Given the description of an element on the screen output the (x, y) to click on. 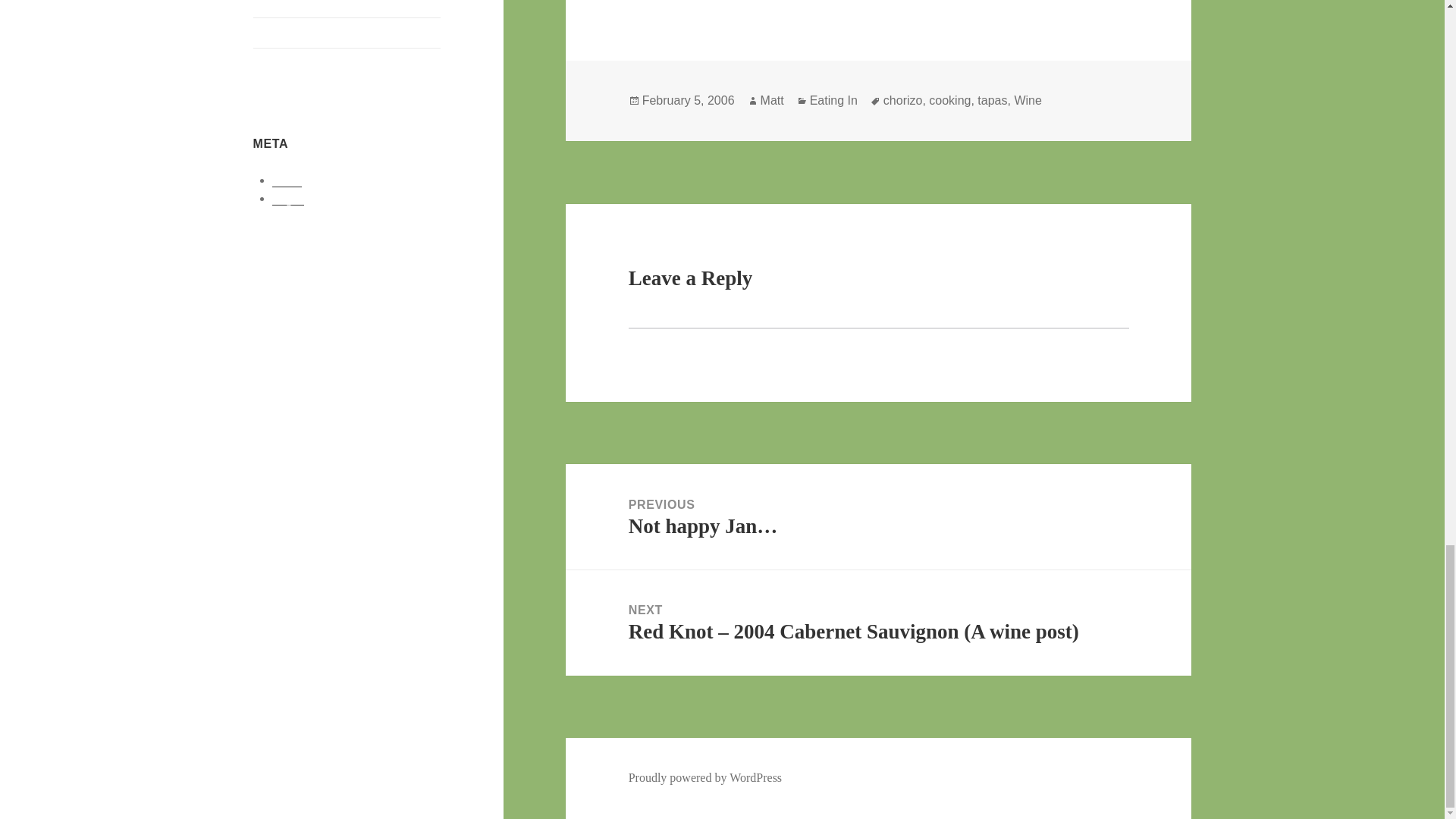
Laura Moseley (289, 4)
